Given the description of an element on the screen output the (x, y) to click on. 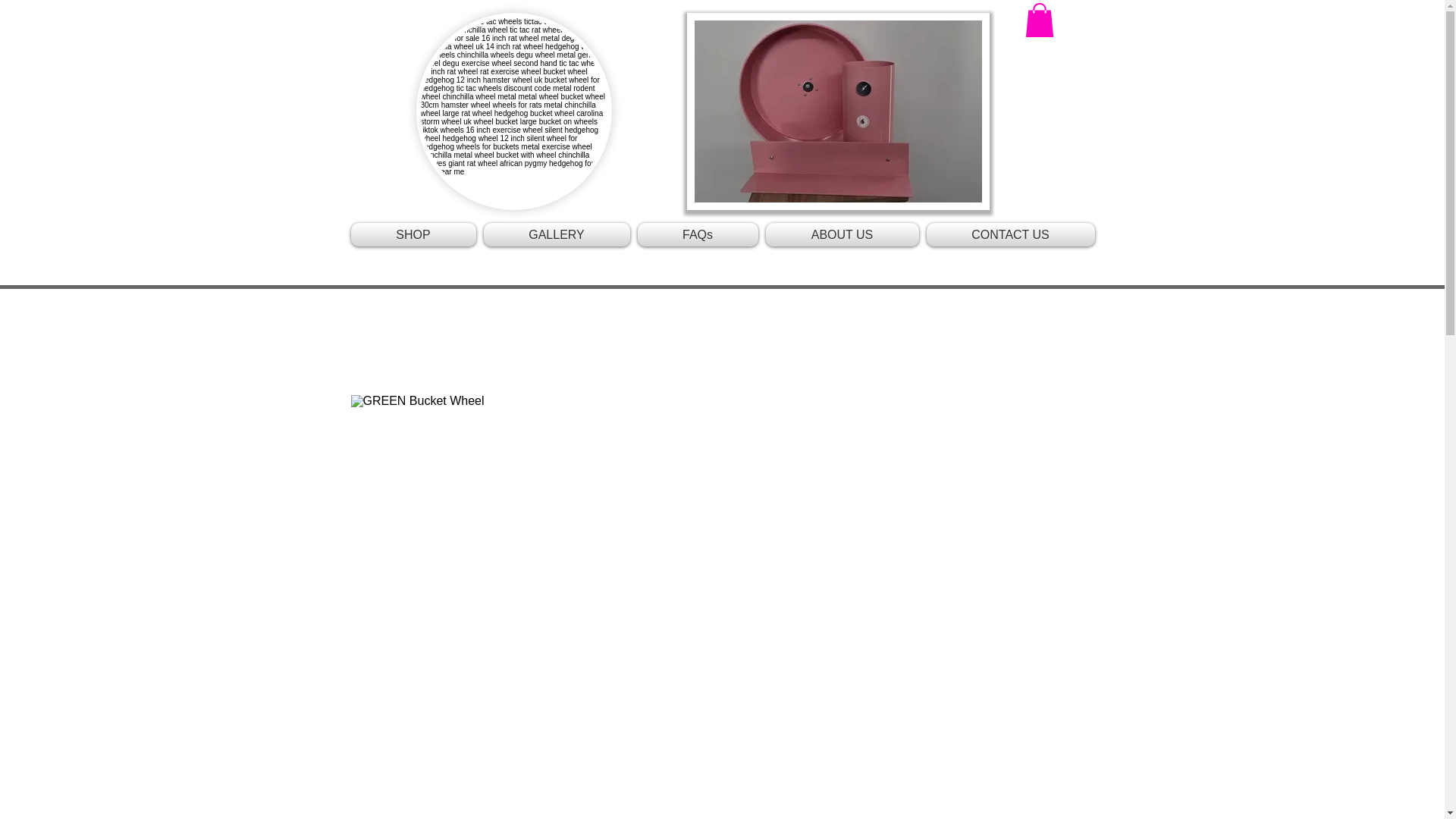
SHOP (414, 234)
FAQs (697, 234)
CONTACT US (1007, 234)
ABOUT US (841, 234)
GALLERY (556, 234)
